Given the description of an element on the screen output the (x, y) to click on. 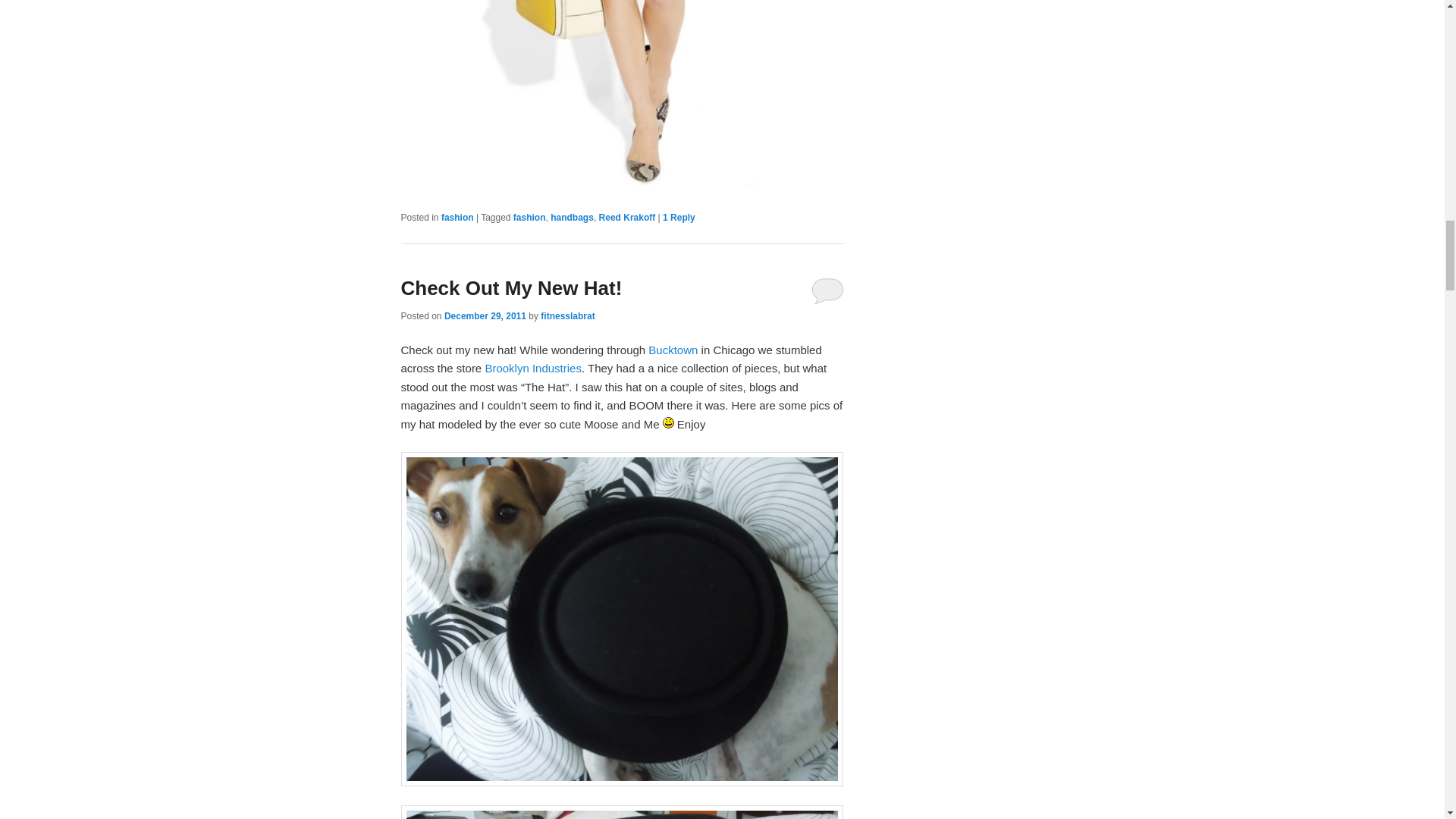
View all posts in fashion (457, 217)
DSCN0296 (622, 812)
Permalink to Check Out My New Hat! (510, 287)
handbags (572, 217)
Brooklyn Industries (532, 367)
December 29, 2011 (484, 316)
fashion (529, 217)
fitnesslabrat (567, 316)
8:00 am (484, 316)
